Given the description of an element on the screen output the (x, y) to click on. 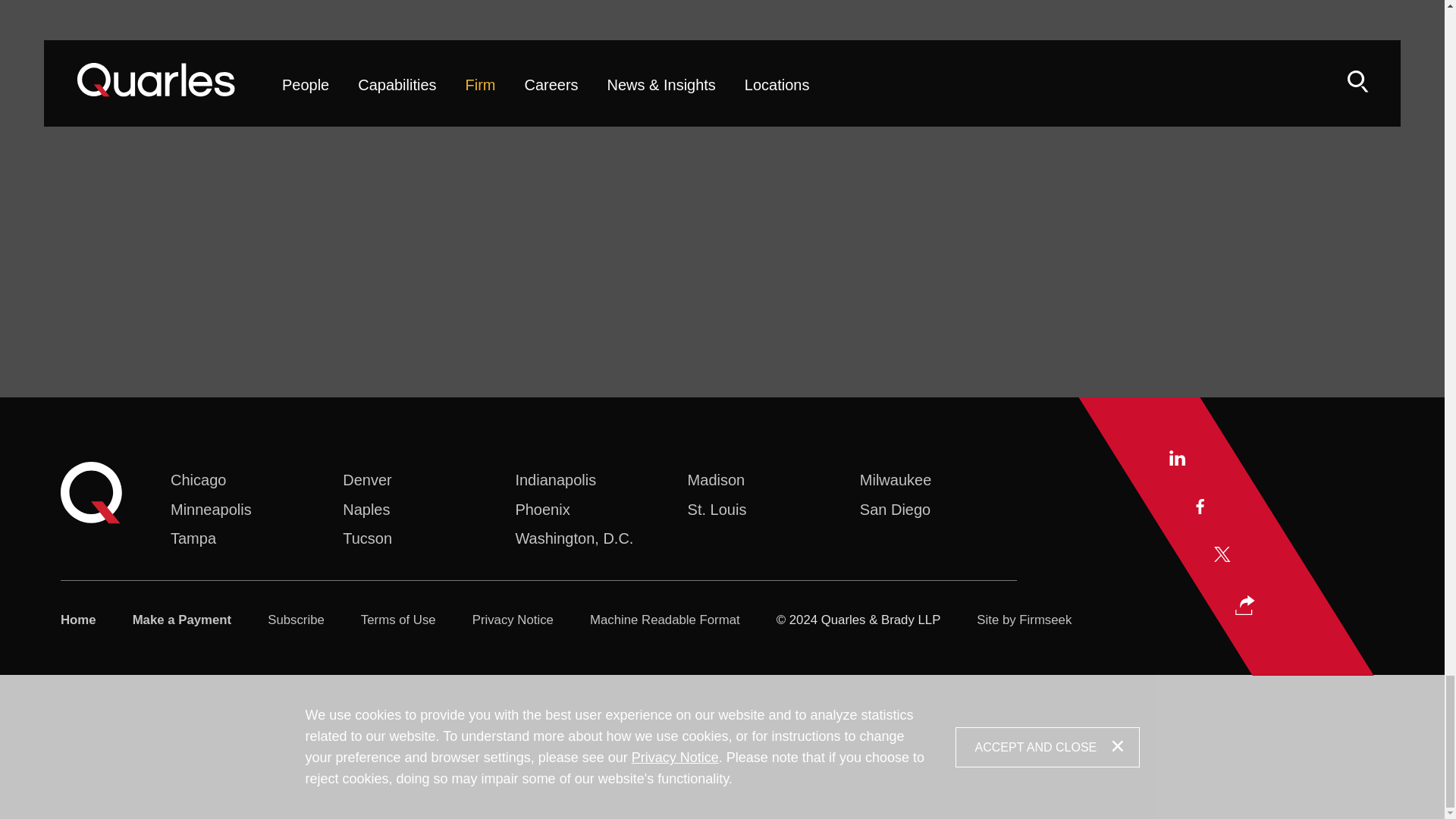
Share (1244, 606)
Facebook (1199, 505)
Share (1244, 605)
Linkedin (1177, 458)
X (1222, 554)
Facebook (1199, 508)
Linkedin (1177, 460)
Twitter (1222, 556)
